Given the description of an element on the screen output the (x, y) to click on. 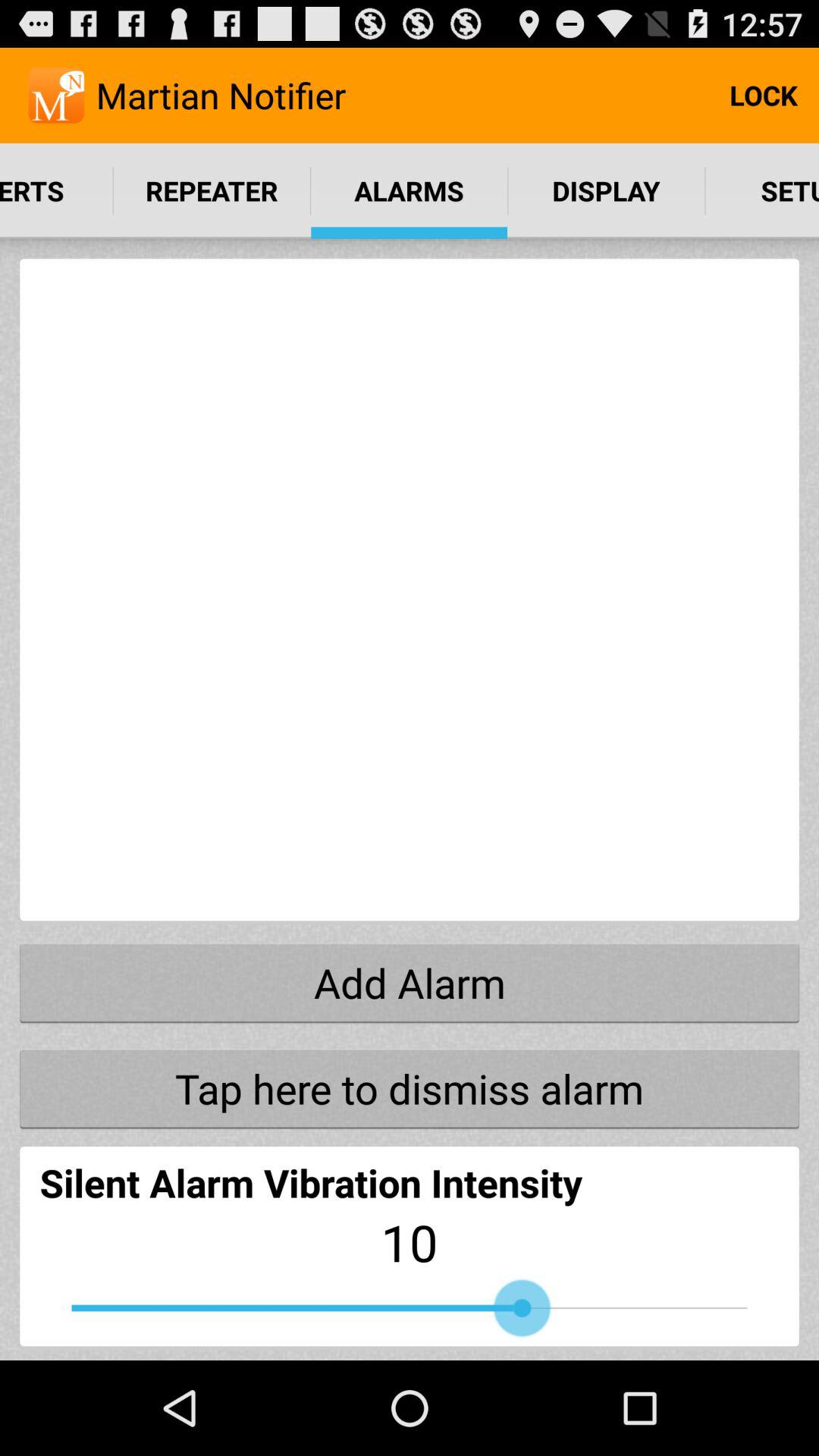
choose the add alarm item (409, 982)
